Given the description of an element on the screen output the (x, y) to click on. 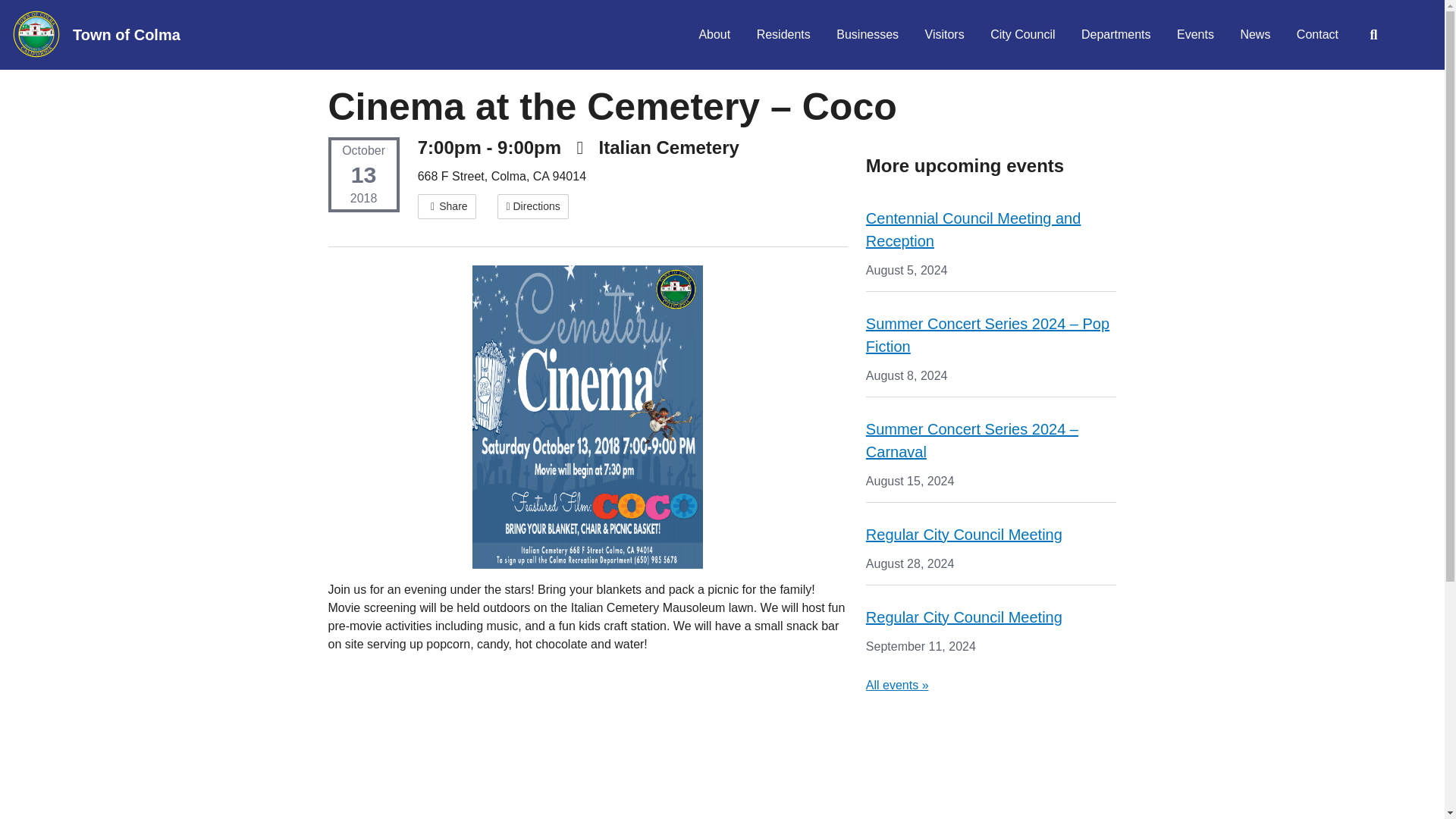
Centennial Council Meeting and Reception (973, 229)
Regular City Council Meeting (964, 617)
News (1254, 34)
Home (36, 33)
Home (132, 34)
Town of Colma (132, 34)
Visitors (944, 34)
Events (1195, 34)
Search (1372, 35)
About (714, 34)
Contact (1317, 34)
Search (1372, 35)
City Council (1021, 34)
Share (446, 206)
Businesses (867, 34)
